Given the description of an element on the screen output the (x, y) to click on. 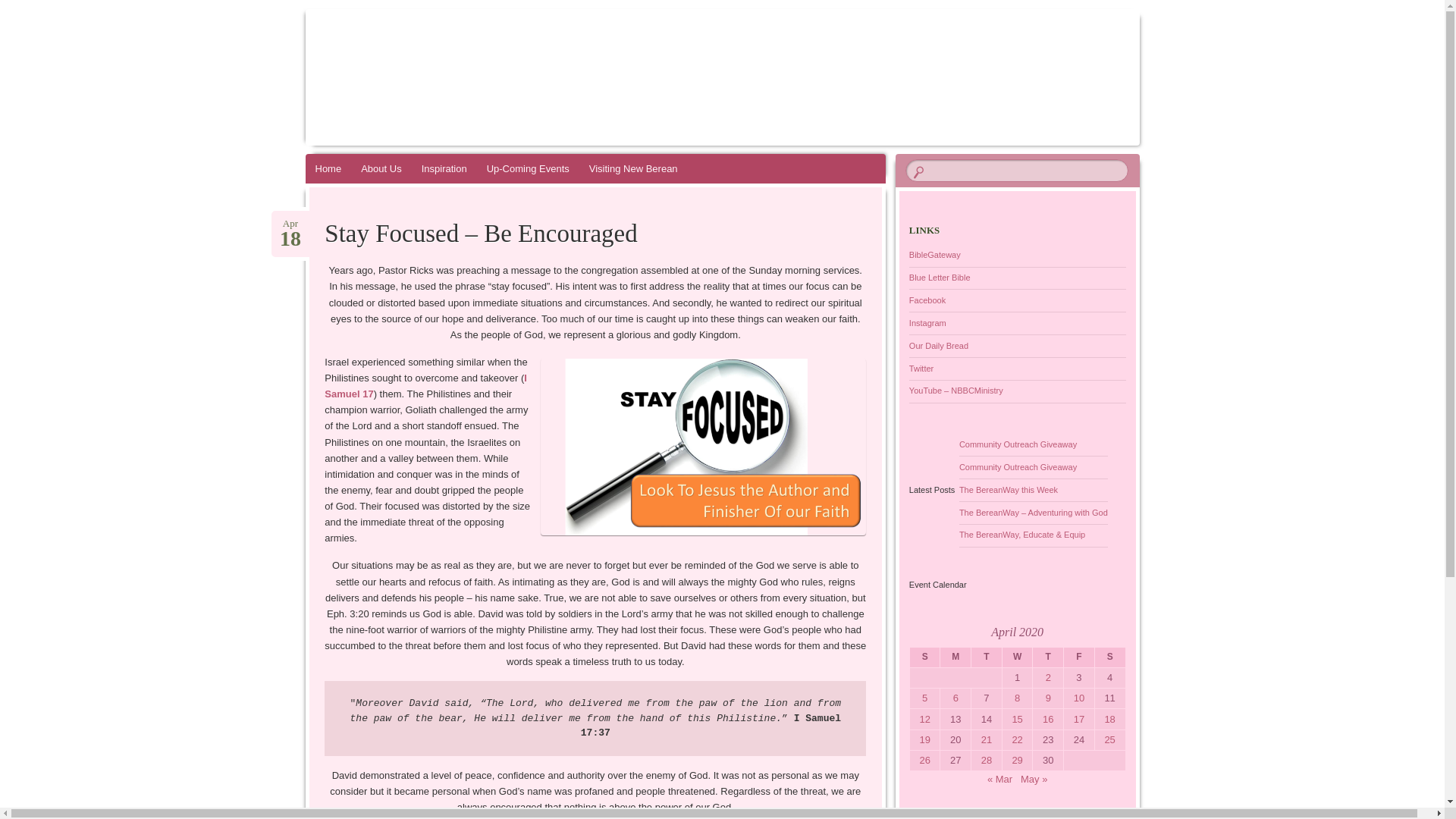
About Us (380, 168)
Daily Reading and Audio Devotional (938, 345)
Tuesday (987, 657)
New Berean Baptist Church (609, 60)
Search (289, 223)
Up-Coming Events (21, 7)
Monday (528, 168)
Daily Tweet (955, 657)
Home (920, 368)
